Given the description of an element on the screen output the (x, y) to click on. 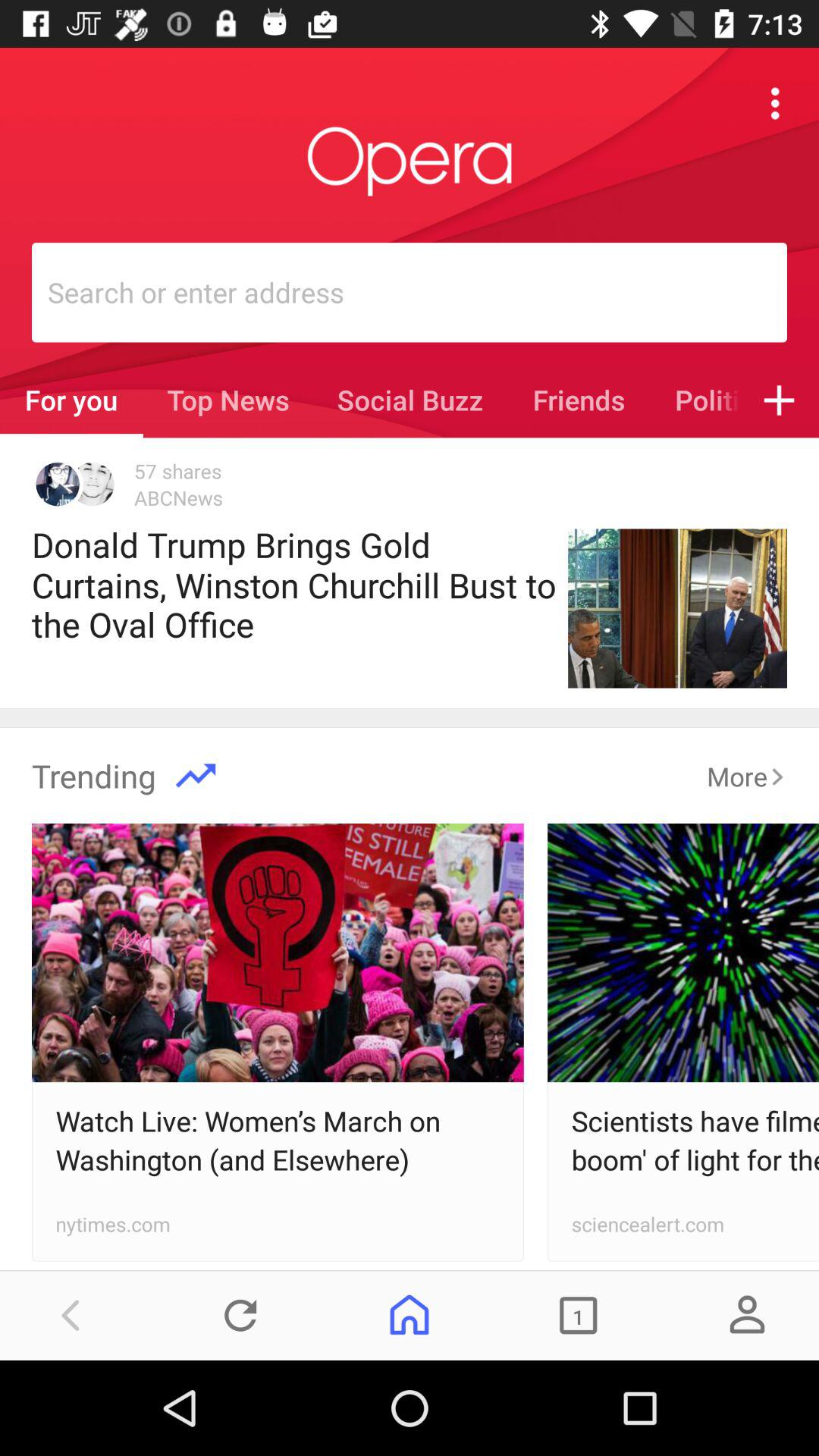
select the add option under search bar (779, 400)
click on the profile icon at the bottom (747, 1315)
select the one to the right of home icon (578, 1315)
select opera (409, 162)
go to the search box (415, 292)
